Given the description of an element on the screen output the (x, y) to click on. 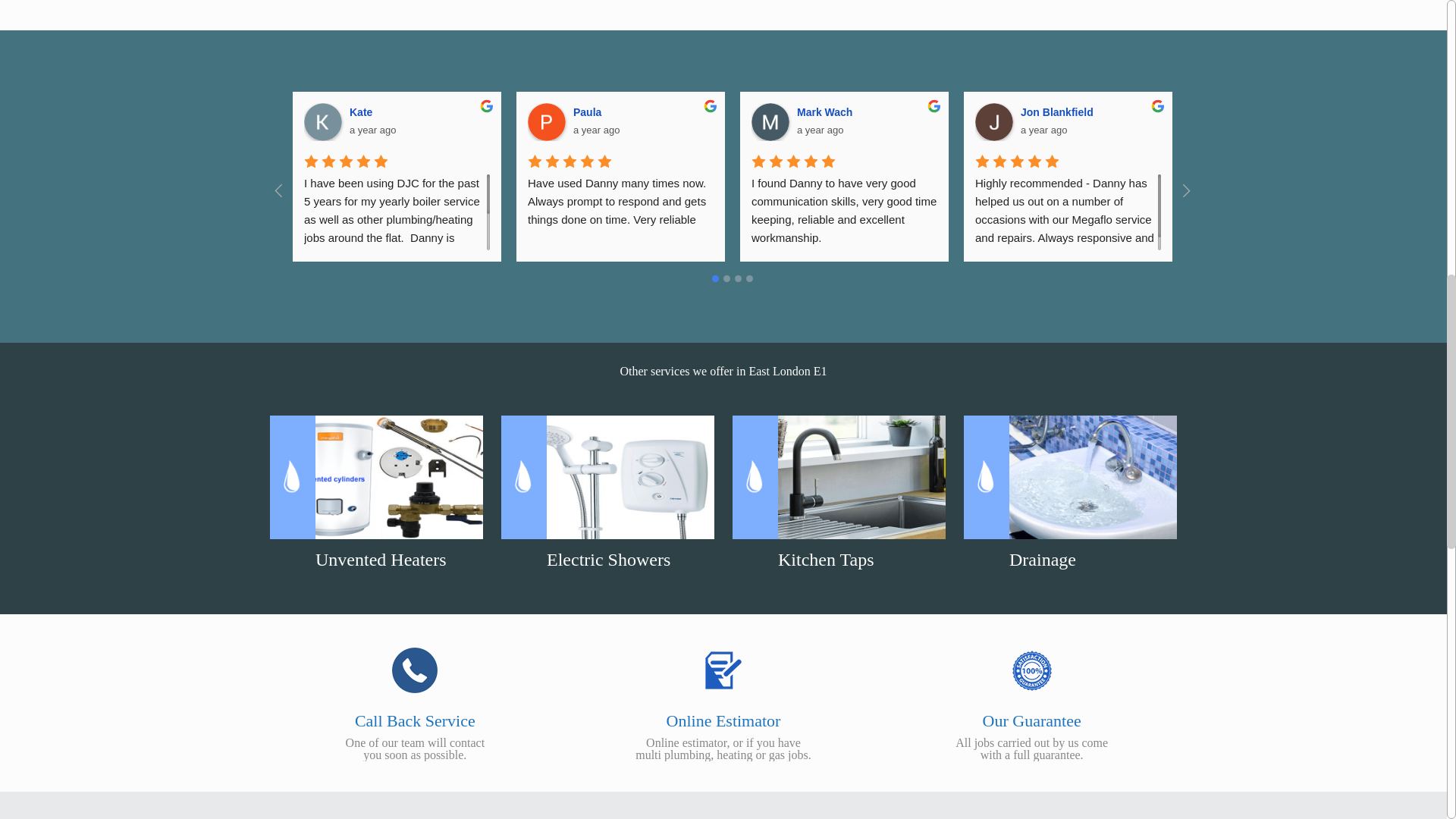
Jon Blankfield (994, 121)
Kate (323, 121)
Mark Wach (770, 121)
James Mullett-Merrick (1217, 121)
Paula (546, 121)
